Given the description of an element on the screen output the (x, y) to click on. 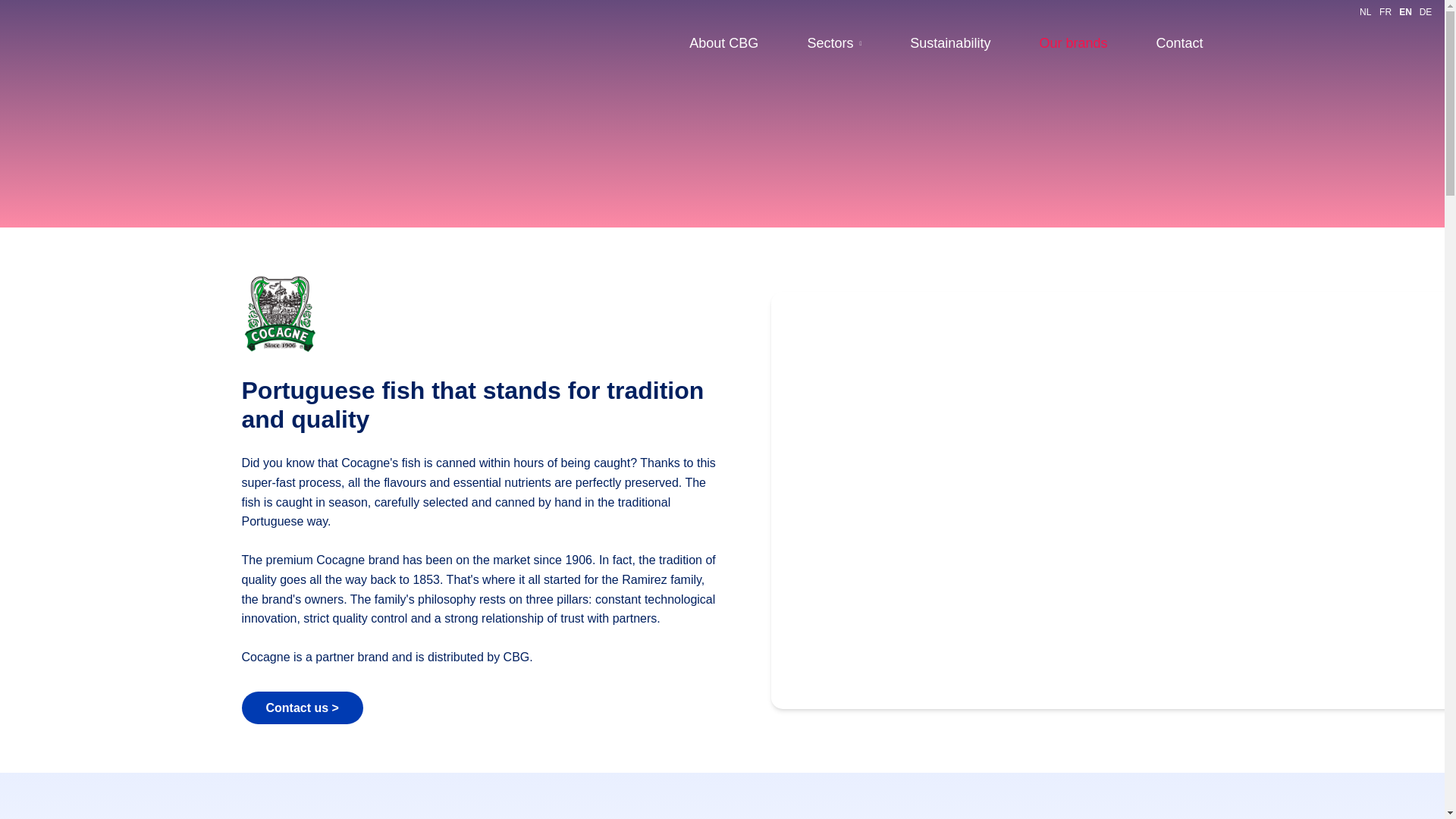
NL (1365, 11)
Our brands (1072, 44)
FR (1384, 11)
Our brands (1072, 44)
Charlier-Brabo Group (315, 45)
Contact (1179, 44)
Sustainability (950, 44)
About CBG (723, 44)
Sustainability (950, 44)
Sectors (833, 44)
